Given the description of an element on the screen output the (x, y) to click on. 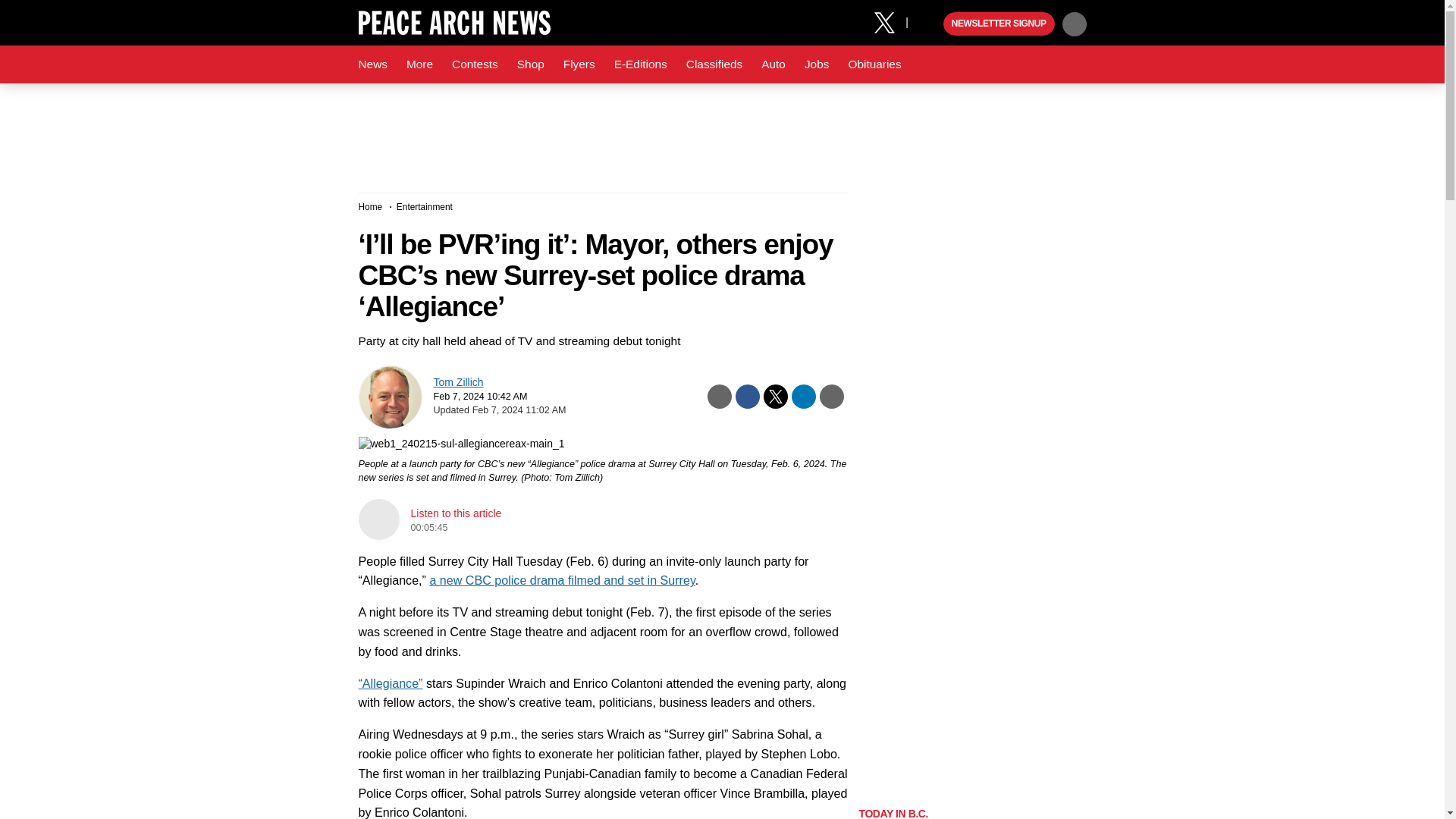
NEWSLETTER SIGNUP (998, 24)
Play (929, 24)
Black Press Media (929, 24)
X (889, 21)
News (372, 64)
